Given the description of an element on the screen output the (x, y) to click on. 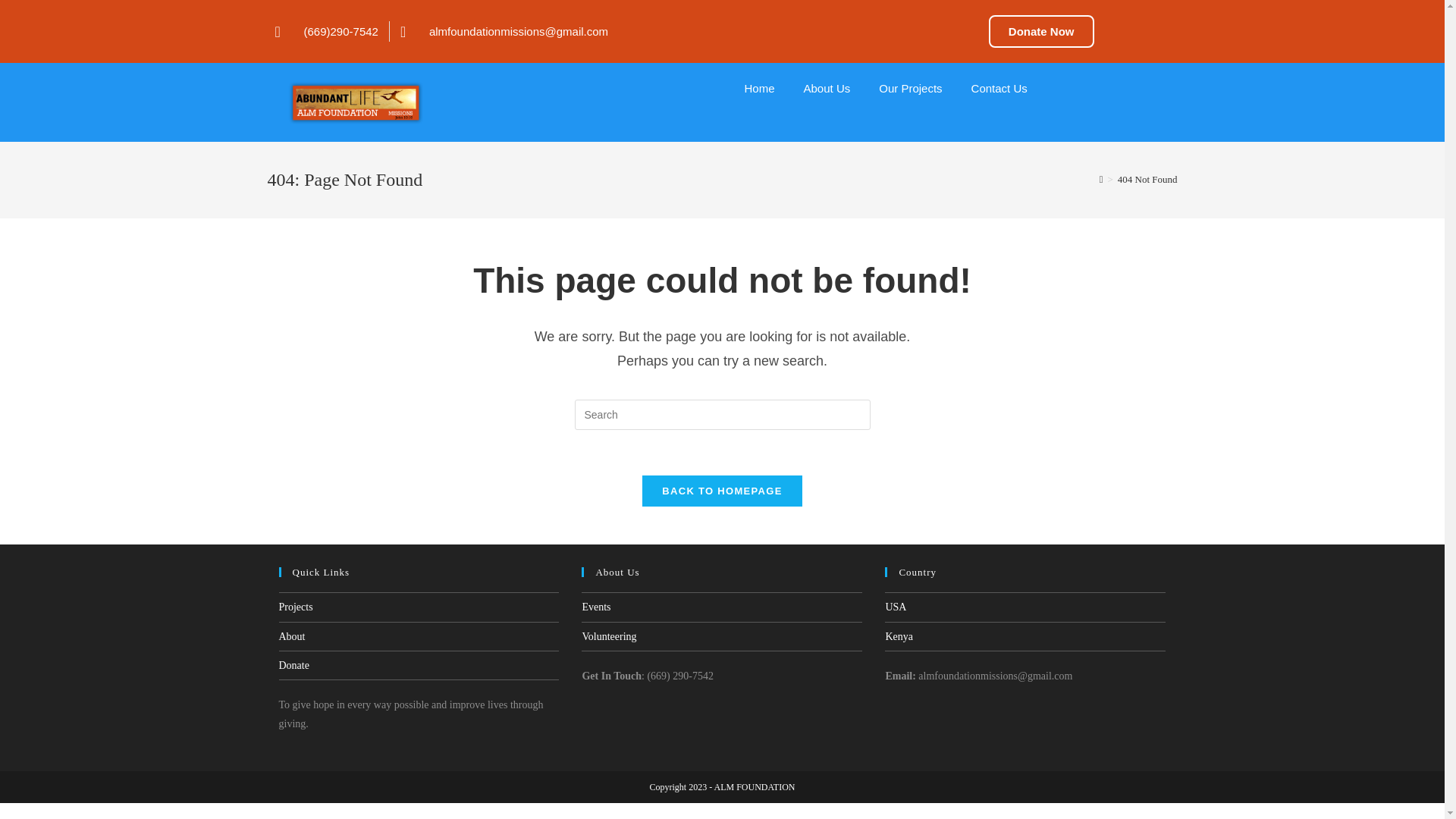
Contact Us (999, 87)
Donate Now (1041, 31)
Projects (296, 606)
BACK TO HOMEPAGE (722, 490)
Volunteering (608, 636)
404 Not Found (1147, 179)
Donate (293, 665)
Our Projects (910, 87)
About (292, 636)
Events (595, 606)
